Given the description of an element on the screen output the (x, y) to click on. 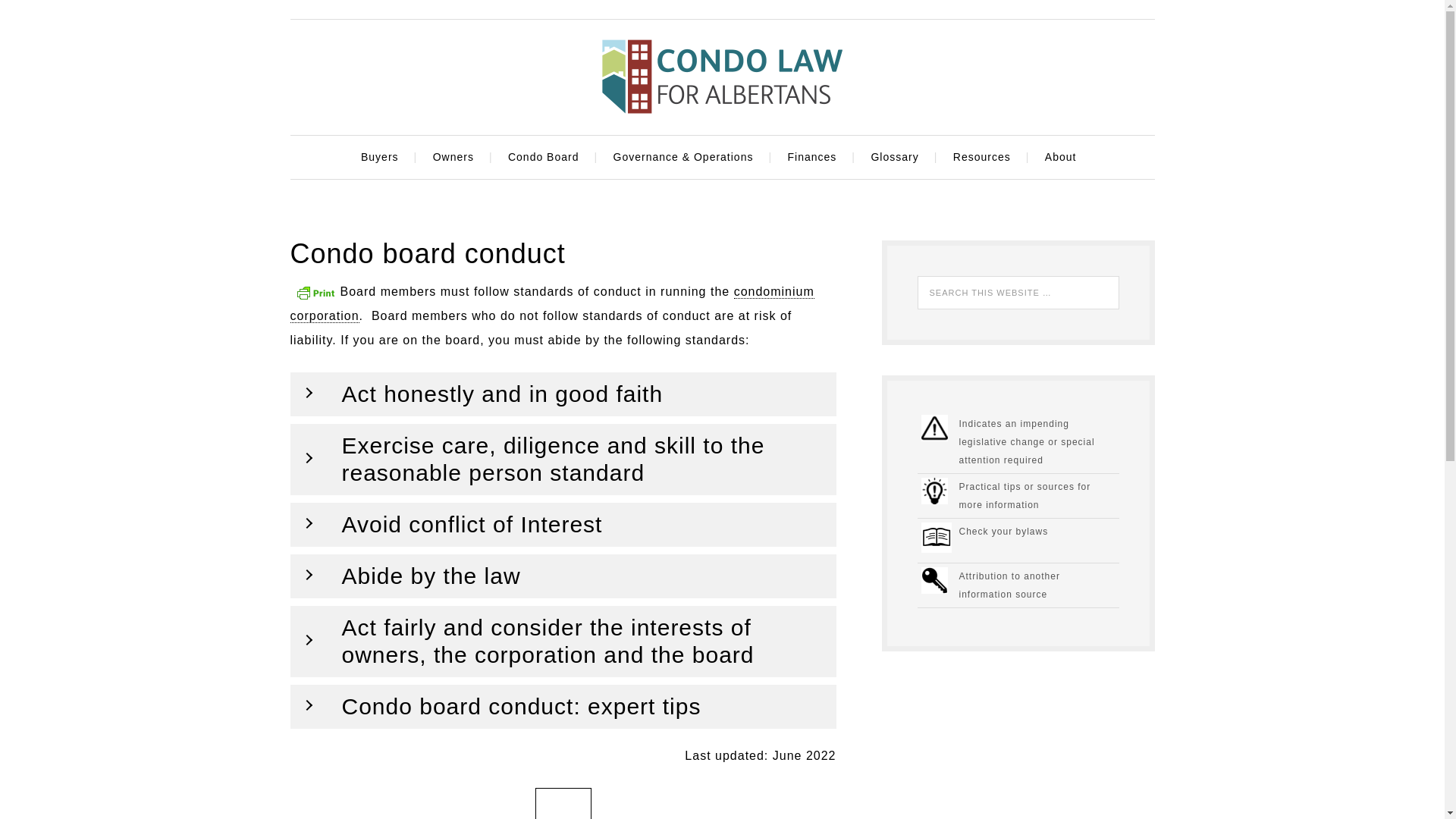
Buyers (382, 157)
CondoLawAlberta (721, 76)
Owners (457, 157)
Glossary: Condominium corporation (551, 303)
Condo Board (546, 157)
